Given the description of an element on the screen output the (x, y) to click on. 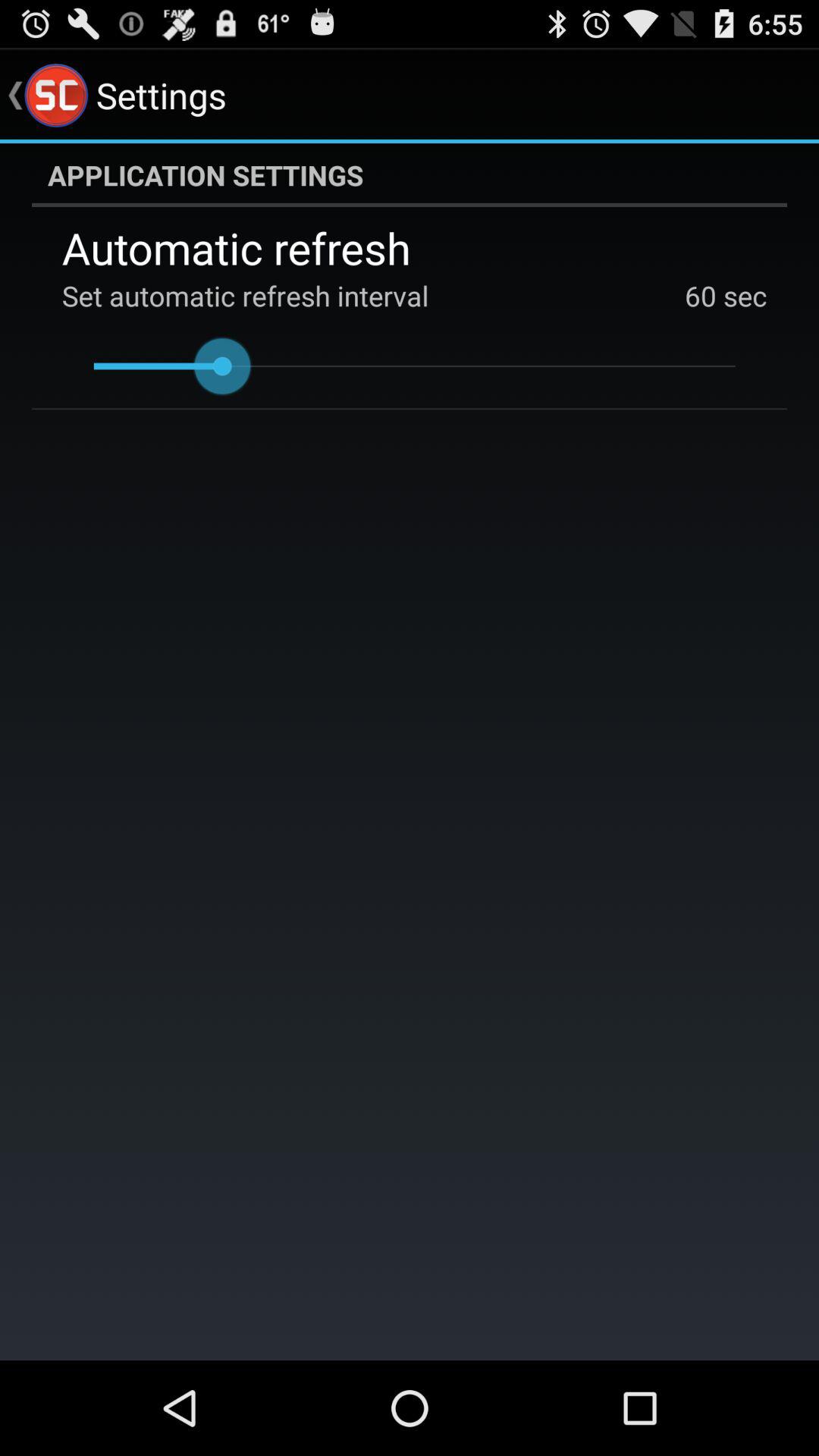
turn on app next to 60 item (741, 295)
